Given the description of an element on the screen output the (x, y) to click on. 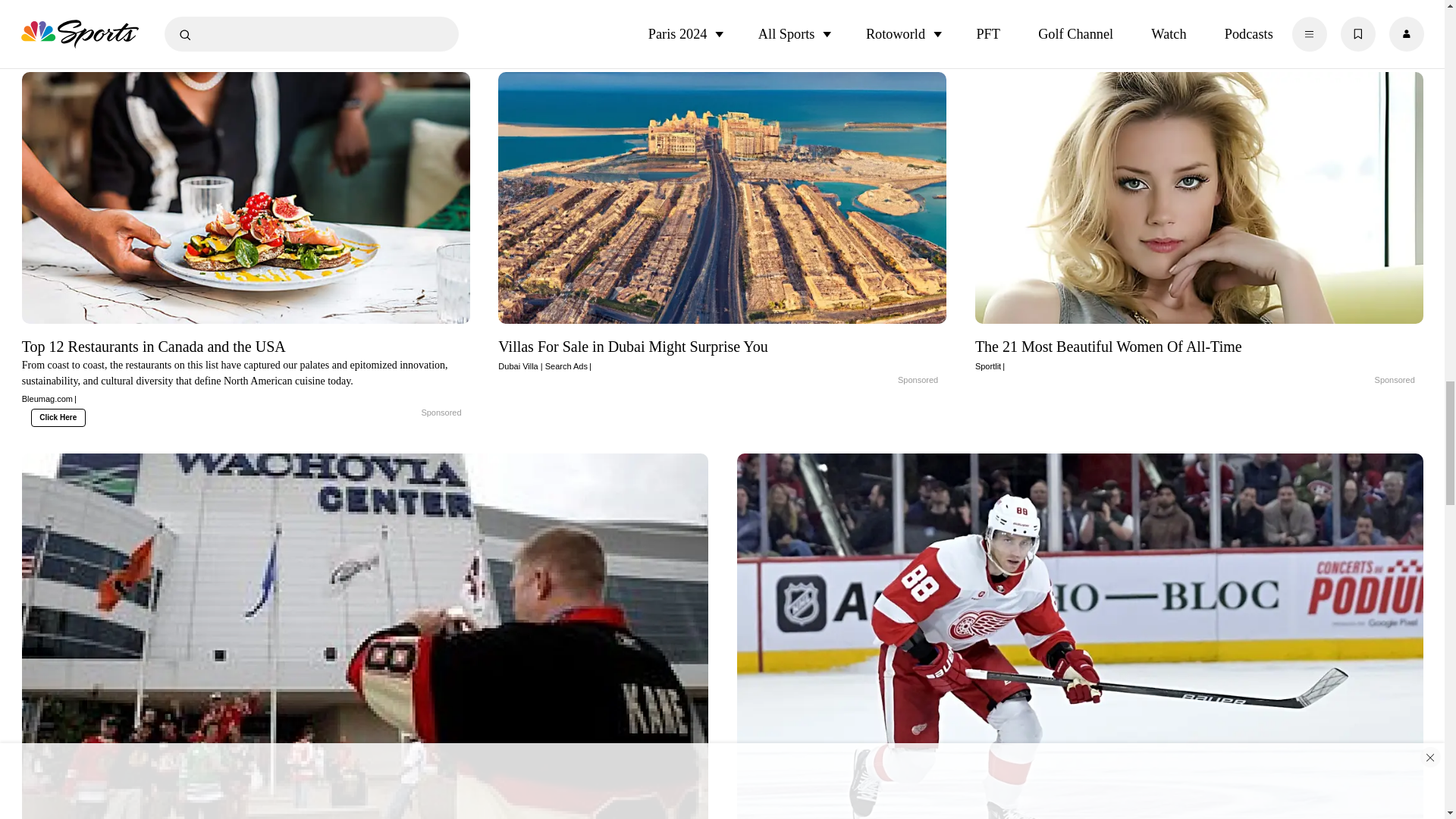
The 21 Most Beautiful Women Of All-Time (1199, 197)
Top 12 Restaurants in Canada and the USA (404, 412)
Top 12 Restaurants in Canada and the USA (245, 369)
Top 12 Restaurants in Canada and the USA (245, 197)
Villas For Sale in Dubai Might Surprise You (721, 197)
Villas For Sale in Dubai Might Surprise You (882, 380)
Villas For Sale in Dubai Might Surprise You (721, 353)
